Given the description of an element on the screen output the (x, y) to click on. 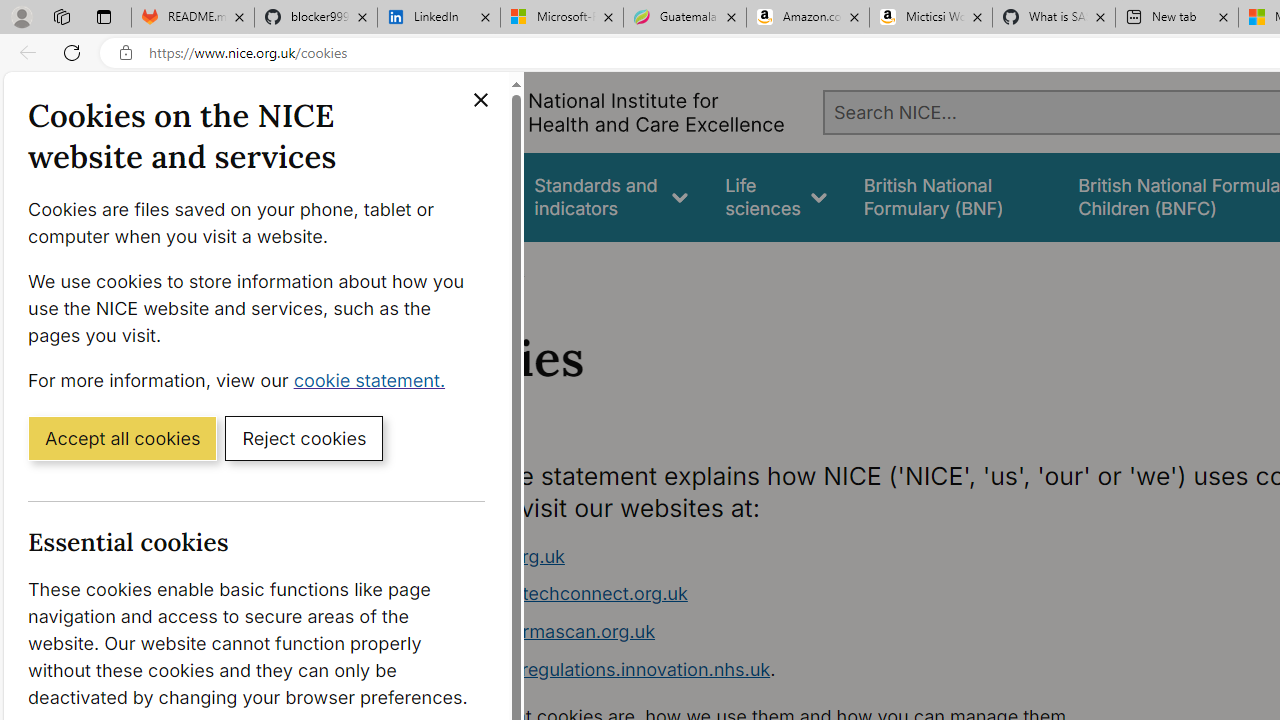
www.digitalregulations.innovation.nhs.uk. (796, 669)
www.ukpharmascan.org.uk (796, 632)
cookie statement. (Opens in a new window) (373, 379)
www.ukpharmascan.org.uk (538, 631)
www.digitalregulations.innovation.nhs.uk (595, 668)
